Given the description of an element on the screen output the (x, y) to click on. 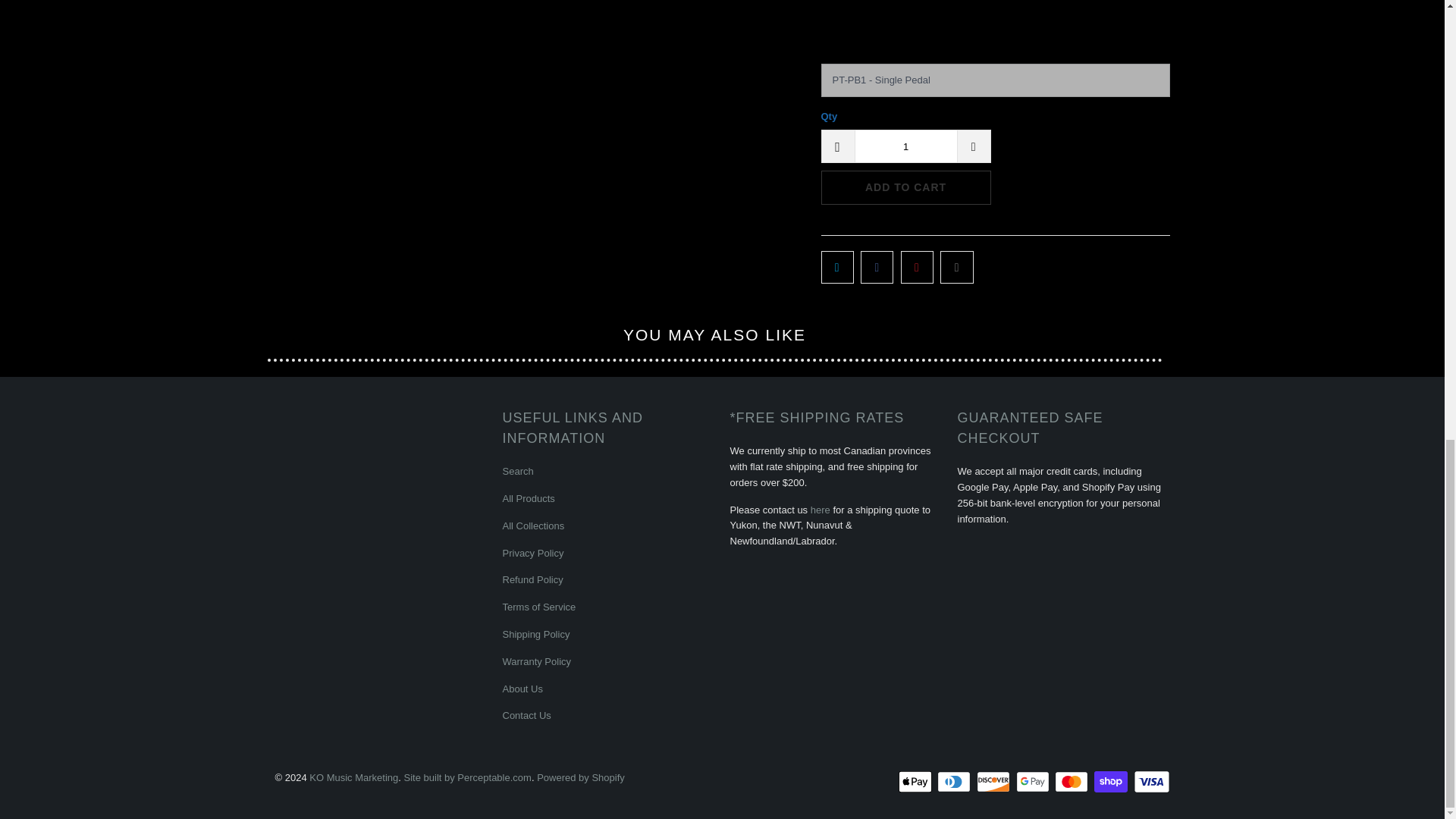
Apple Pay (916, 781)
Shop Pay (1112, 781)
Visa (1150, 781)
Google Pay (1034, 781)
Share this on Twitter (837, 266)
Discover (994, 781)
1 (904, 145)
Share this on Pinterest (917, 266)
Email this to a friend (956, 266)
Mastercard (1072, 781)
